Given the description of an element on the screen output the (x, y) to click on. 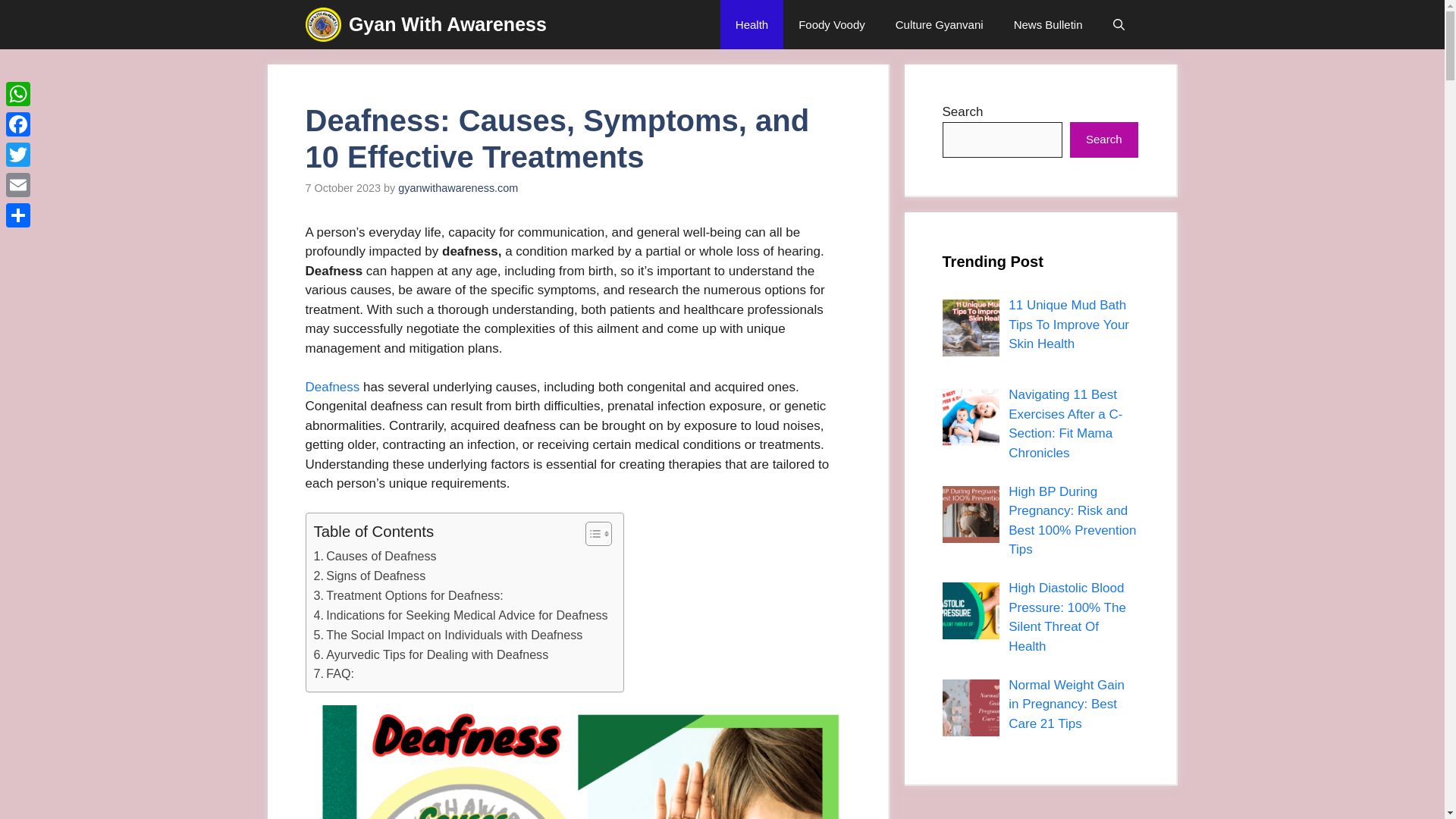
Foody Voody (831, 24)
Health (751, 24)
Ayurvedic Tips for Dealing with Deafness (431, 655)
FAQ: (333, 673)
View all posts by gyanwithawareness.com (457, 187)
The Social Impact on Individuals with Deafness (448, 635)
11 Unique Mud Bath Tips To Improve Your Skin Health (1069, 324)
Causes of Deafness (375, 556)
Culture Gyanvani (939, 24)
Ayurvedic Tips for Dealing with Deafness (431, 655)
Treatment Options for Deafness: (408, 596)
FAQ: (333, 673)
Deafness (331, 386)
Causes of Deafness (375, 556)
